Given the description of an element on the screen output the (x, y) to click on. 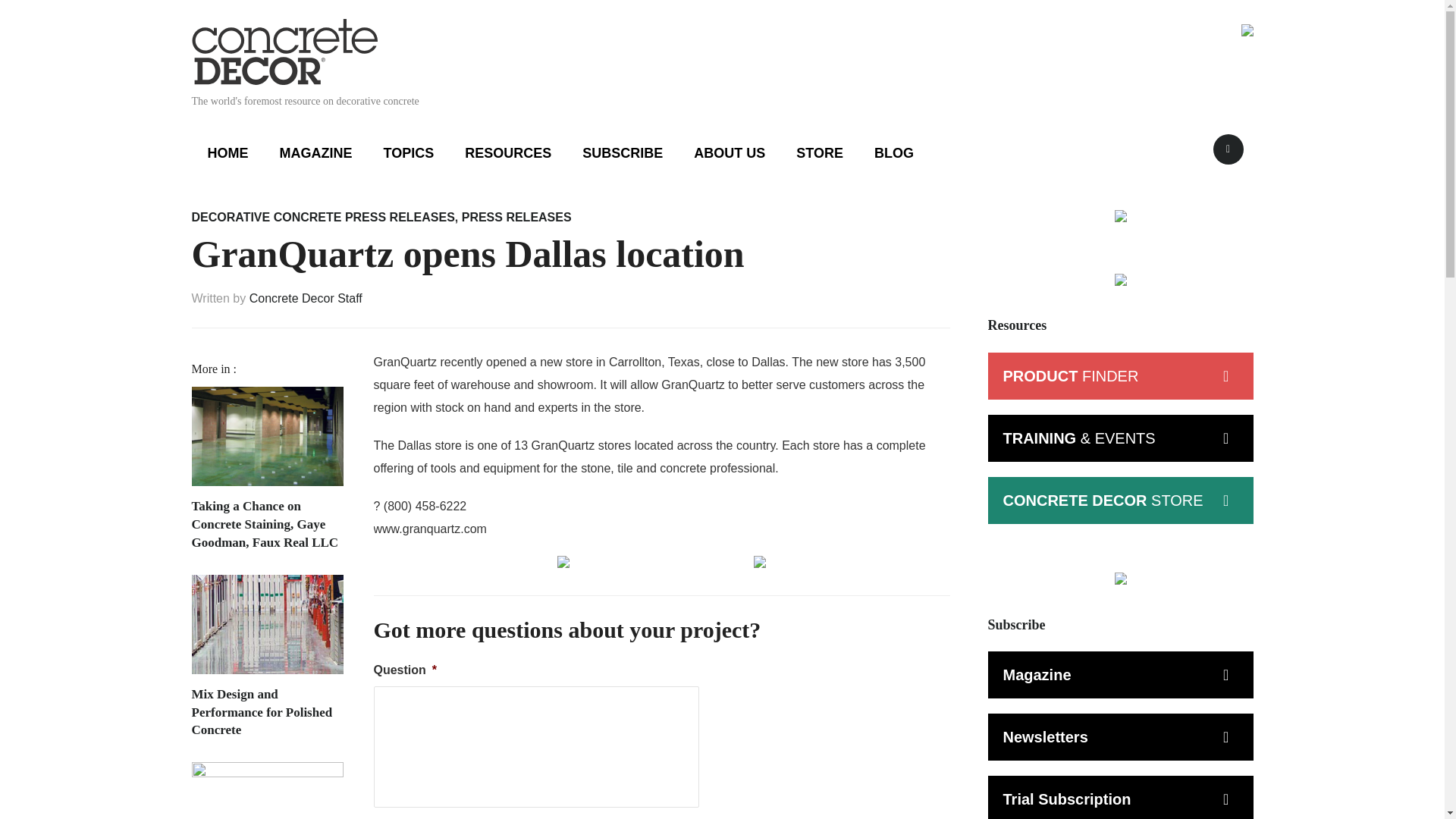
Search (1227, 149)
DVD teaches engraving (266, 790)
Mix Design and Performance for Polished Concrete (266, 629)
Mix Design and Performance for Polished Concrete (266, 712)
